Given the description of an element on the screen output the (x, y) to click on. 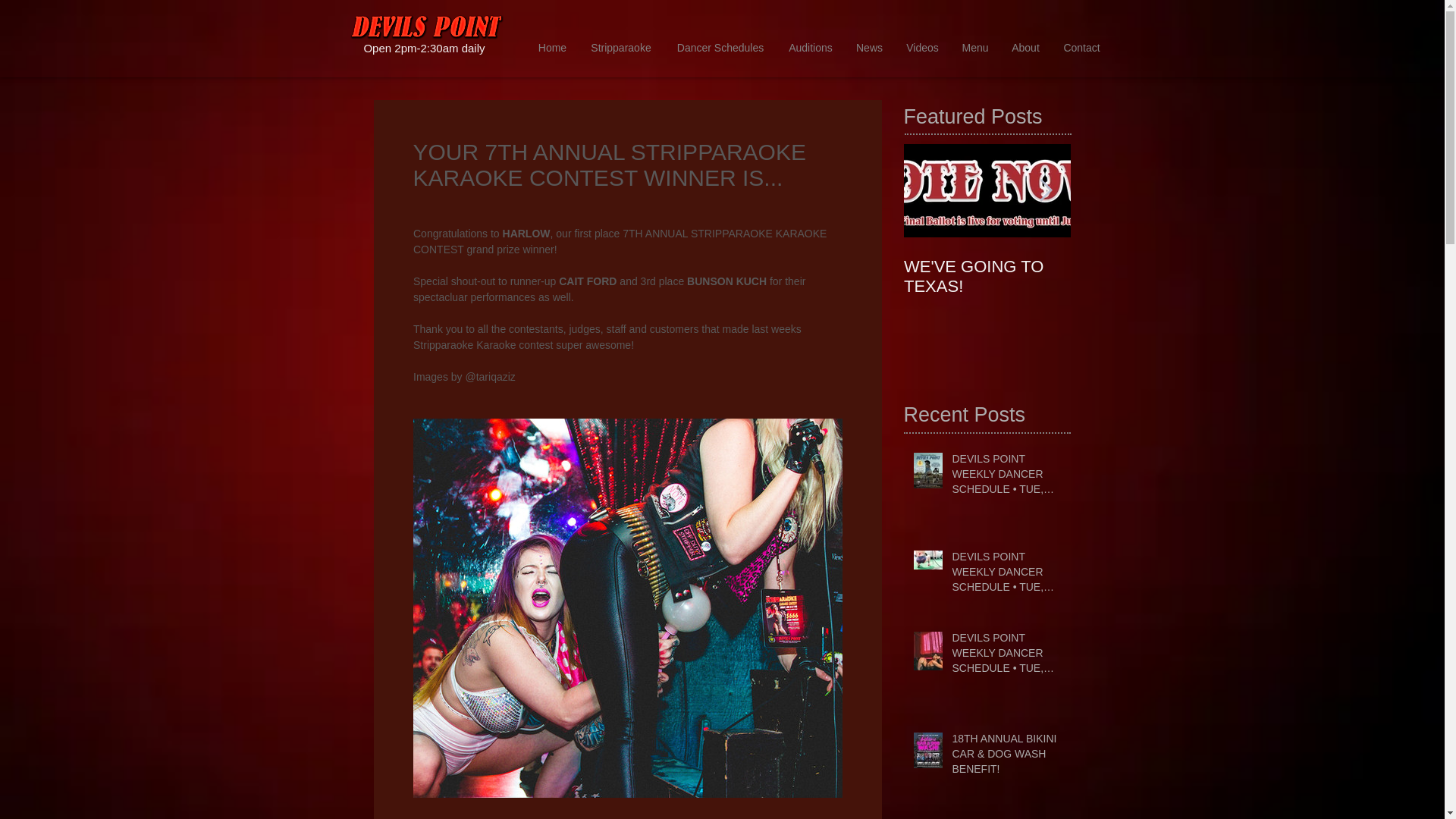
Stripparaoke (620, 48)
News (869, 48)
About (1024, 48)
Dancer Schedules (720, 48)
Open 2pm-2:30am daily (423, 47)
Home (551, 48)
Contact (1081, 48)
Menu (975, 48)
NOMINATE DEVILS POINT FOR BEST OF PORTLAND 2024! (1153, 286)
Auditions (810, 48)
